Given the description of an element on the screen output the (x, y) to click on. 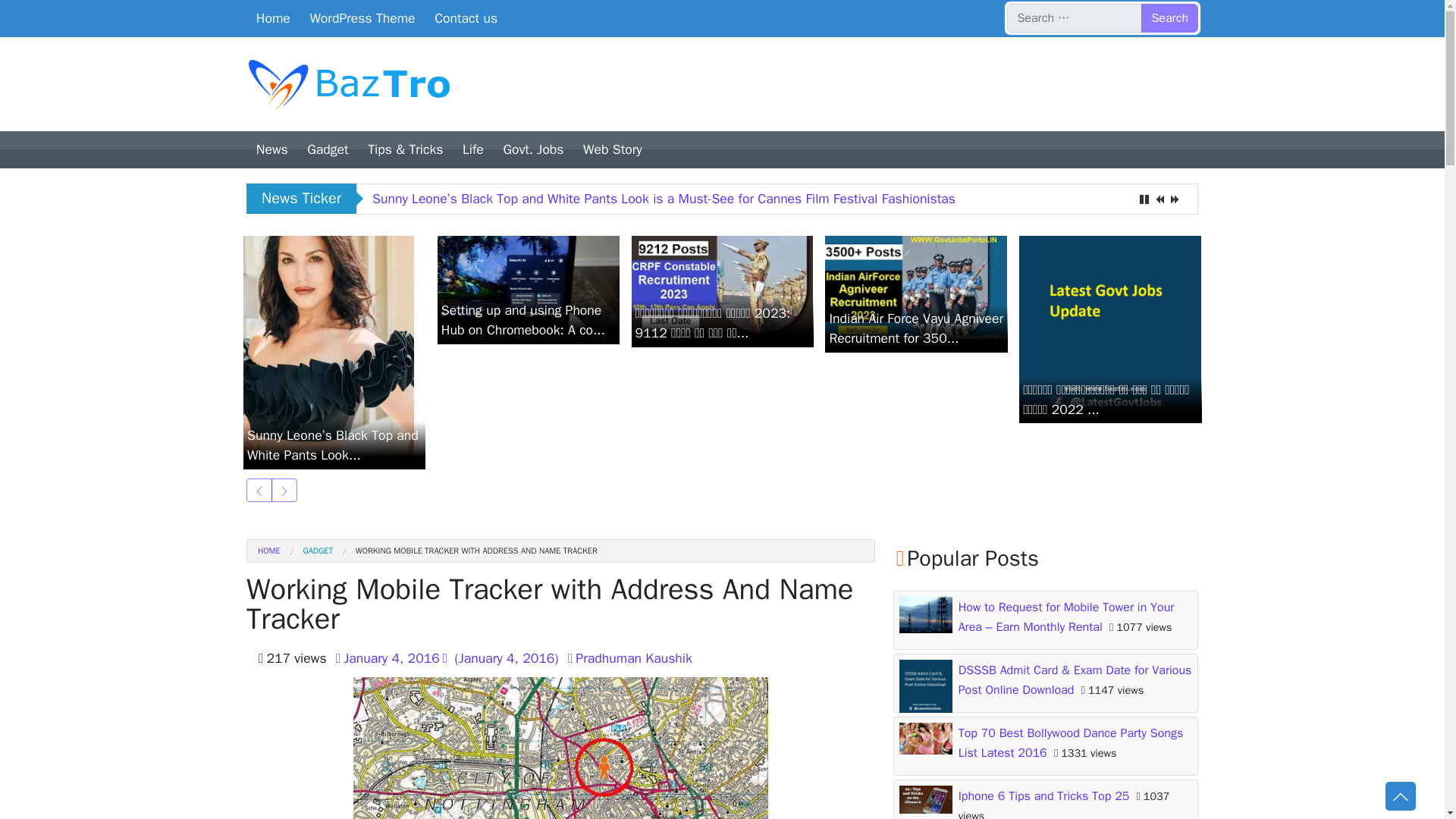
Web Story (611, 149)
WordPress Theme (362, 18)
Pradhuman Kaushik (628, 658)
Gadget (327, 149)
News (271, 149)
Contact us (465, 18)
Setting up and using Phone Hub on Chromebook: A co... (529, 286)
WordPress Theme (362, 18)
Life (472, 149)
Home (272, 18)
HOME (269, 550)
GADGET (307, 551)
Search (1169, 18)
Govt. Jobs (533, 149)
